Given the description of an element on the screen output the (x, y) to click on. 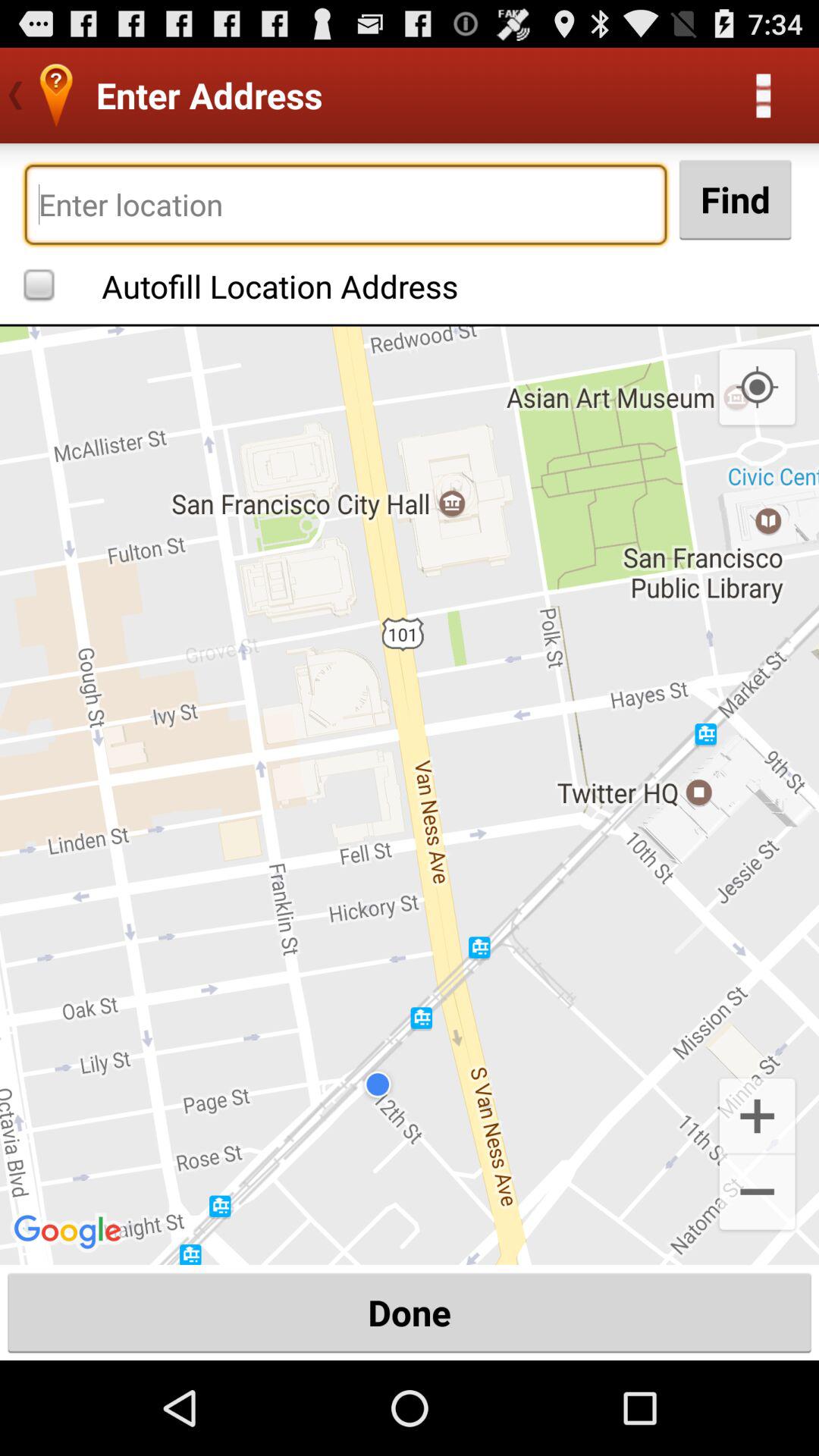
choose the item at the center (409, 795)
